Given the description of an element on the screen output the (x, y) to click on. 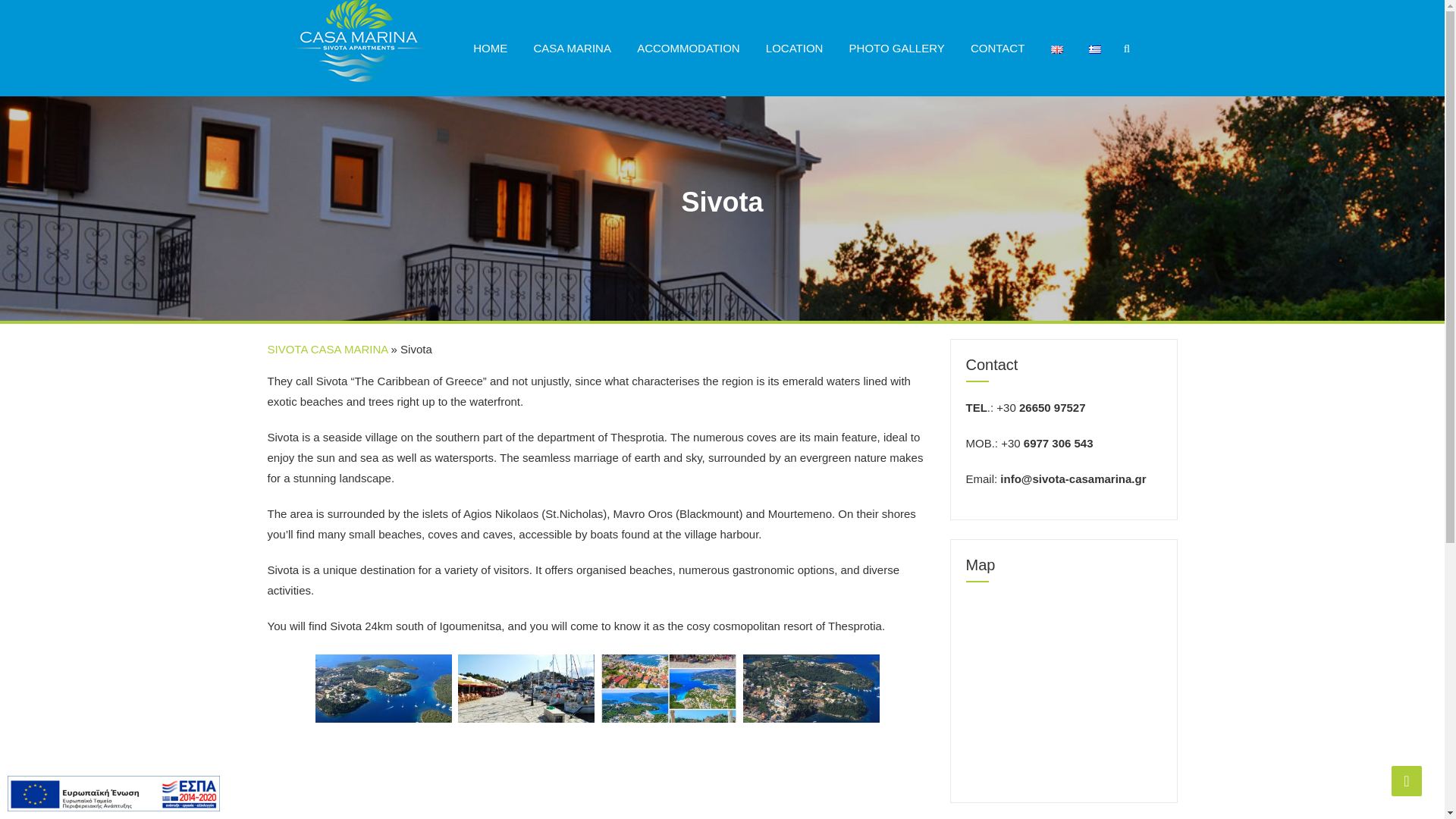
English (1056, 49)
ACCOMMODATION (688, 48)
SIVOTA CASA MARINA (357, 33)
PHOTO GALLERY (896, 48)
SIVOTA CASA MARINA (326, 349)
SIVOTA CASA MARINA (357, 33)
